Given the description of an element on the screen output the (x, y) to click on. 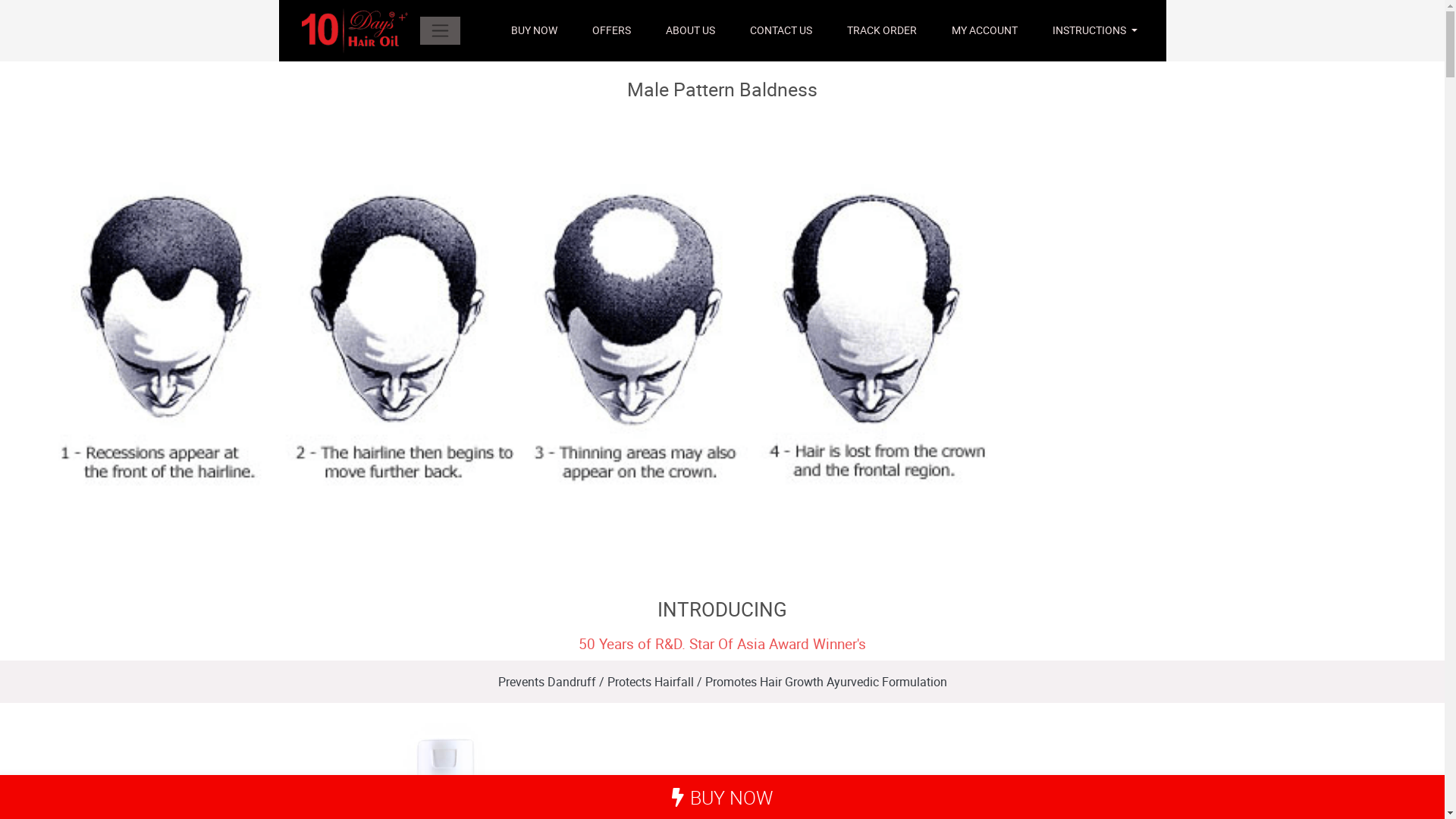
MY ACCOUNT Element type: text (984, 30)
TRACK ORDER Element type: text (881, 30)
BUY NOW
(CURRENT) Element type: text (534, 30)
ABOUT US Element type: text (690, 30)
Regrowth Result Element type: hover (511, 350)
INSTRUCTIONS Element type: text (1094, 30)
10 Days Hair Oil Element type: hover (354, 30)
CONTACT US Element type: text (780, 30)
OFFERS Element type: text (611, 30)
